Given the description of an element on the screen output the (x, y) to click on. 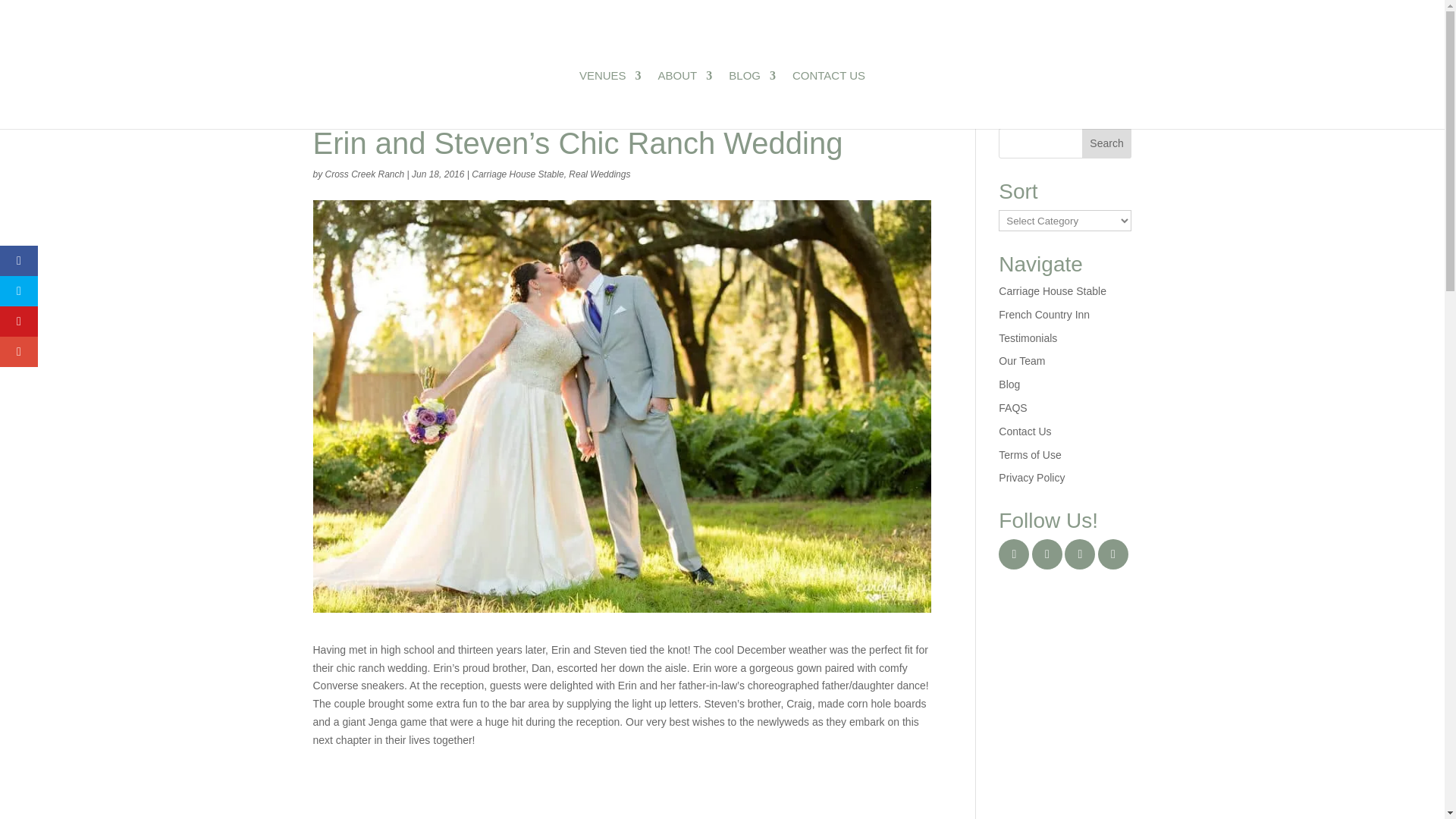
Search (1106, 142)
Cross Creek Ranch (364, 173)
CONTACT US (828, 99)
VENUES (610, 99)
contact-us (828, 99)
Posts by Cross Creek Ranch (364, 173)
Real Weddings (599, 173)
Carriage House Stable (517, 173)
ABOUT (685, 99)
